Given the description of an element on the screen output the (x, y) to click on. 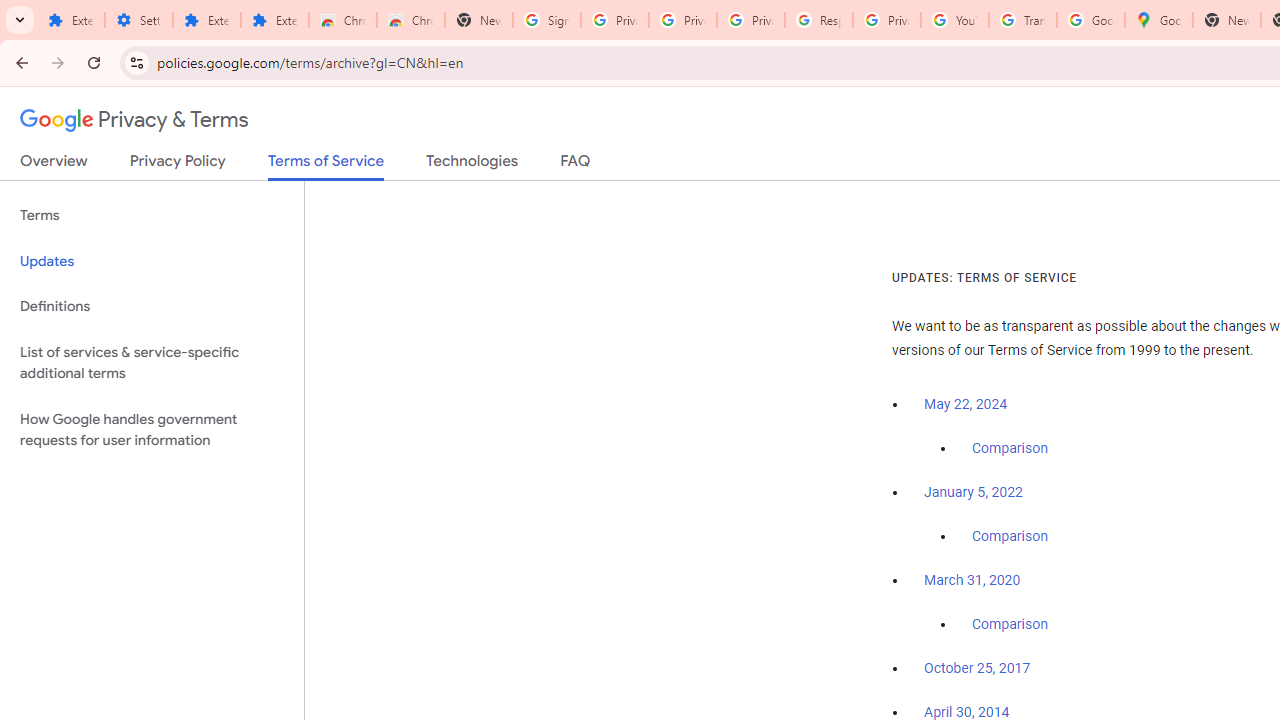
January 5, 2022 (973, 492)
Chrome Web Store (342, 20)
March 31, 2020 (972, 580)
Extensions (206, 20)
Comparison (1009, 625)
